Given the description of an element on the screen output the (x, y) to click on. 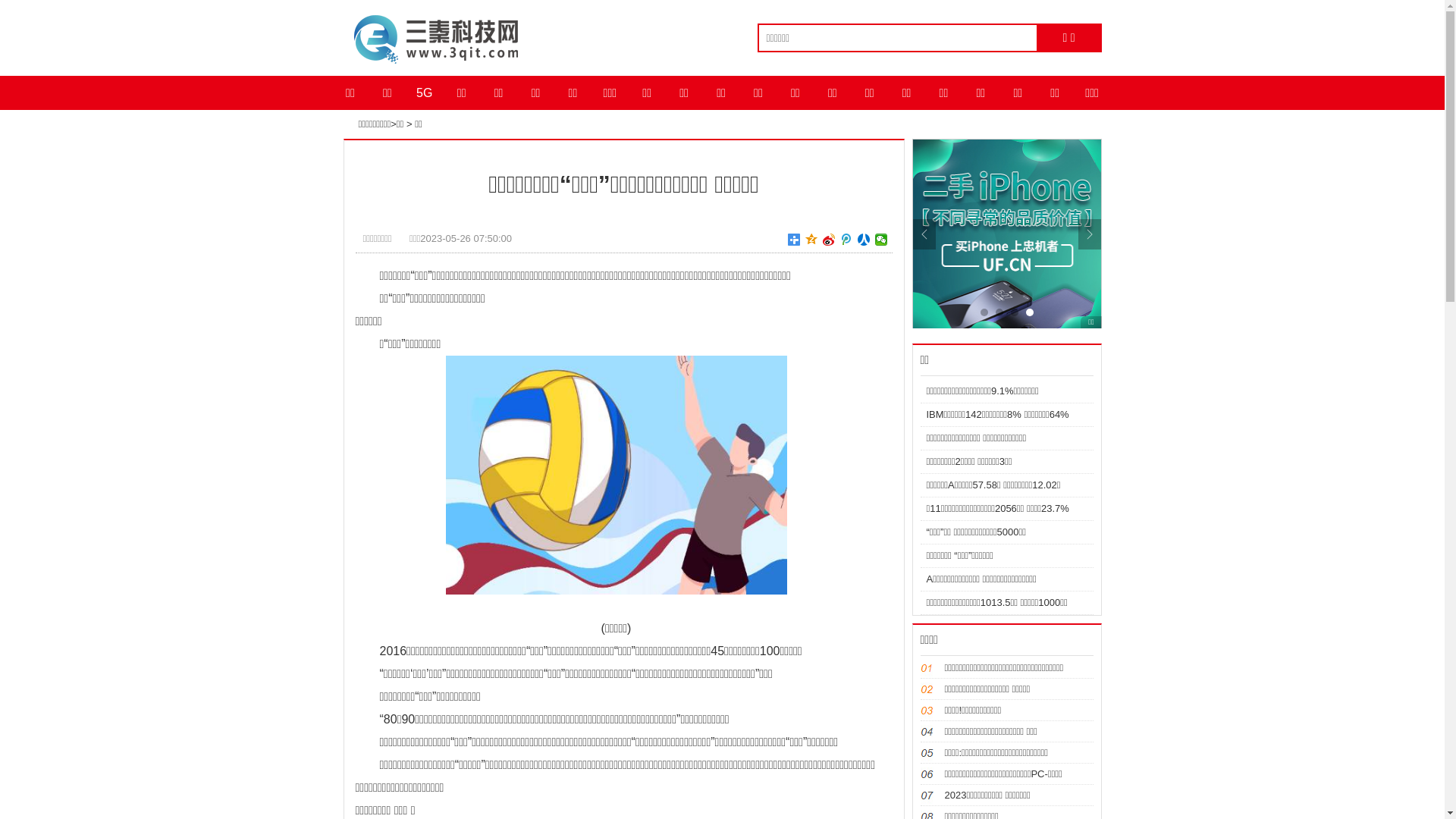
5G Element type: text (423, 92)
